Given the description of an element on the screen output the (x, y) to click on. 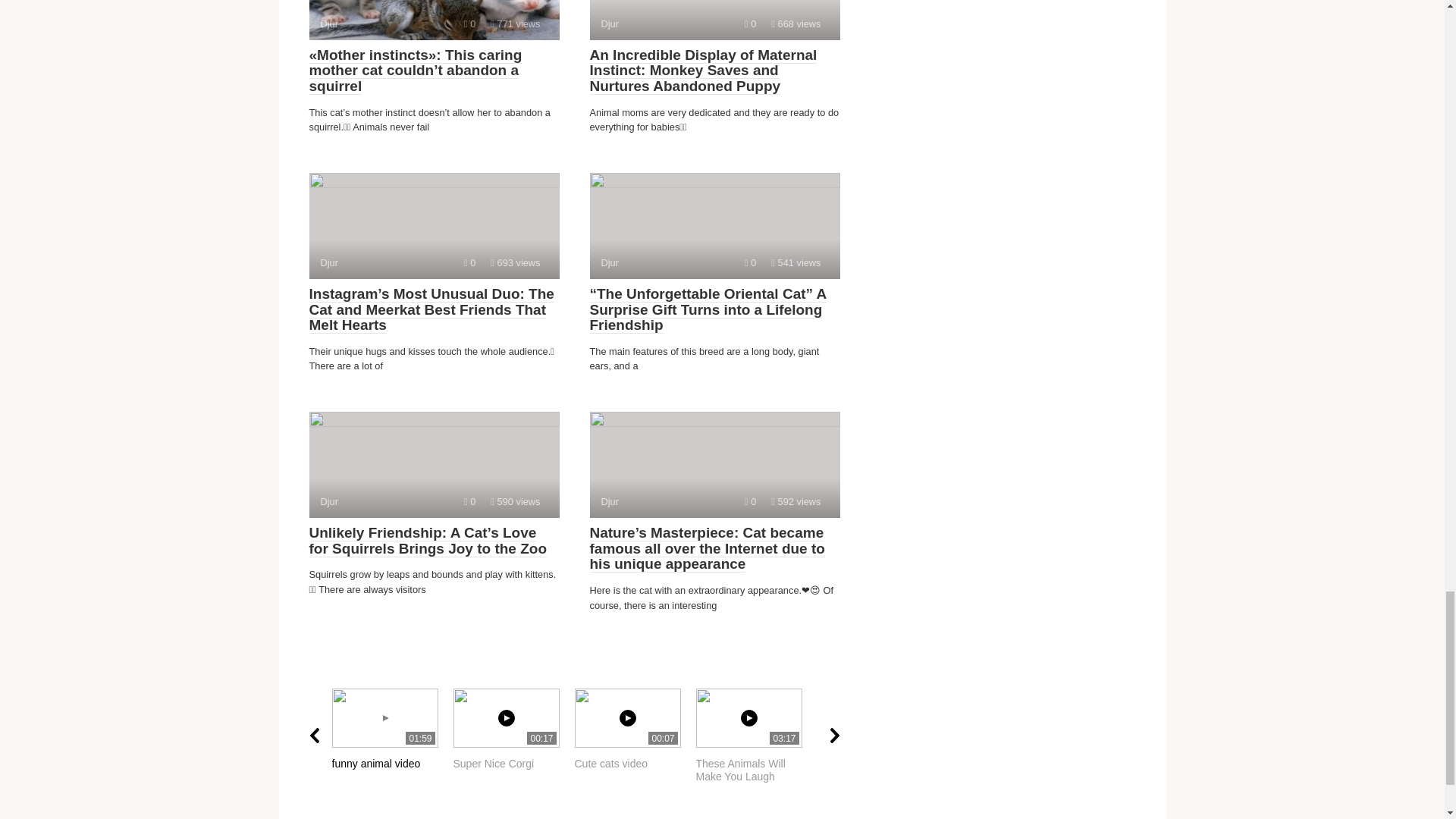
Comments (755, 735)
Views (433, 20)
